Given the description of an element on the screen output the (x, y) to click on. 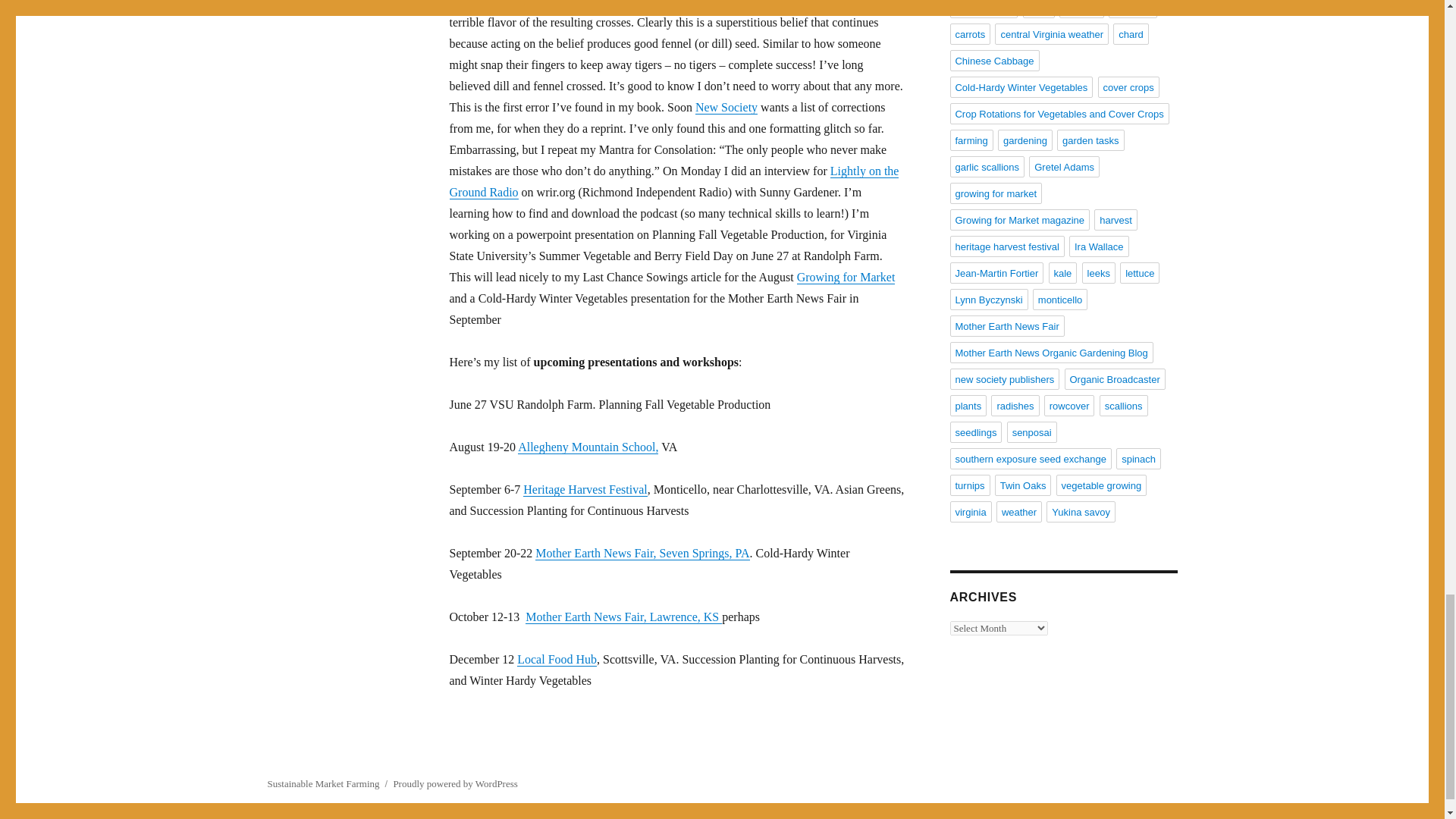
Heritage Harvest Festival (584, 489)
Heritage Harvest Festival (584, 489)
Mother Earth News Fair, Lawrence, KS (623, 616)
Local Food Hub (556, 658)
Local Food Hub (556, 658)
Growing for Market (845, 277)
Allegheny Mountain School, (588, 446)
New Society (726, 106)
Lightly on the Ground Radio (673, 181)
Mother Earth News Fair, Seven Springs, PA (642, 553)
Lightly on the Ground Radio (673, 181)
Growing for Market (845, 277)
Allegheny Mountain School  (588, 446)
Mother Earth News Fair, Seven Springs, PA (642, 553)
Mother Earth News Fair, Lawrence, KS (623, 616)
